Given the description of an element on the screen output the (x, y) to click on. 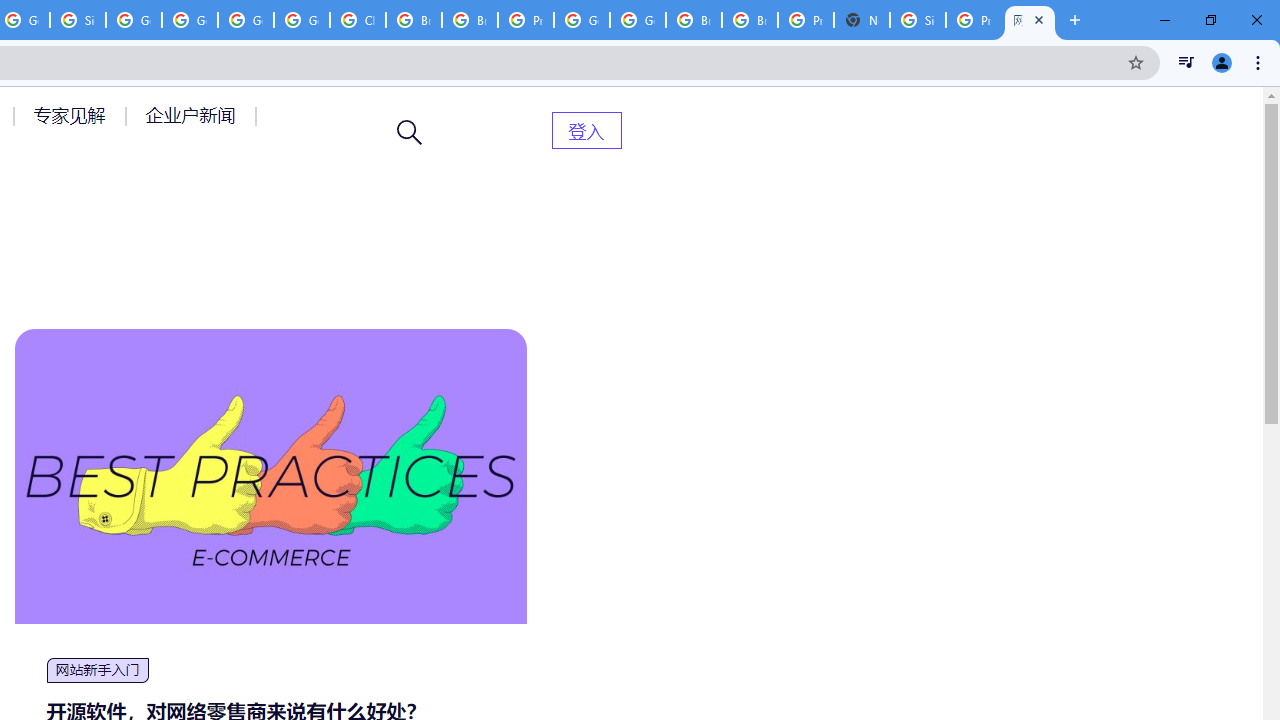
Browse Chrome as a guest - Computer - Google Chrome Help (693, 20)
Sign in - Google Accounts (77, 20)
Google Cloud Platform (582, 20)
AutomationID: menu-item-82399 (586, 129)
